Given the description of an element on the screen output the (x, y) to click on. 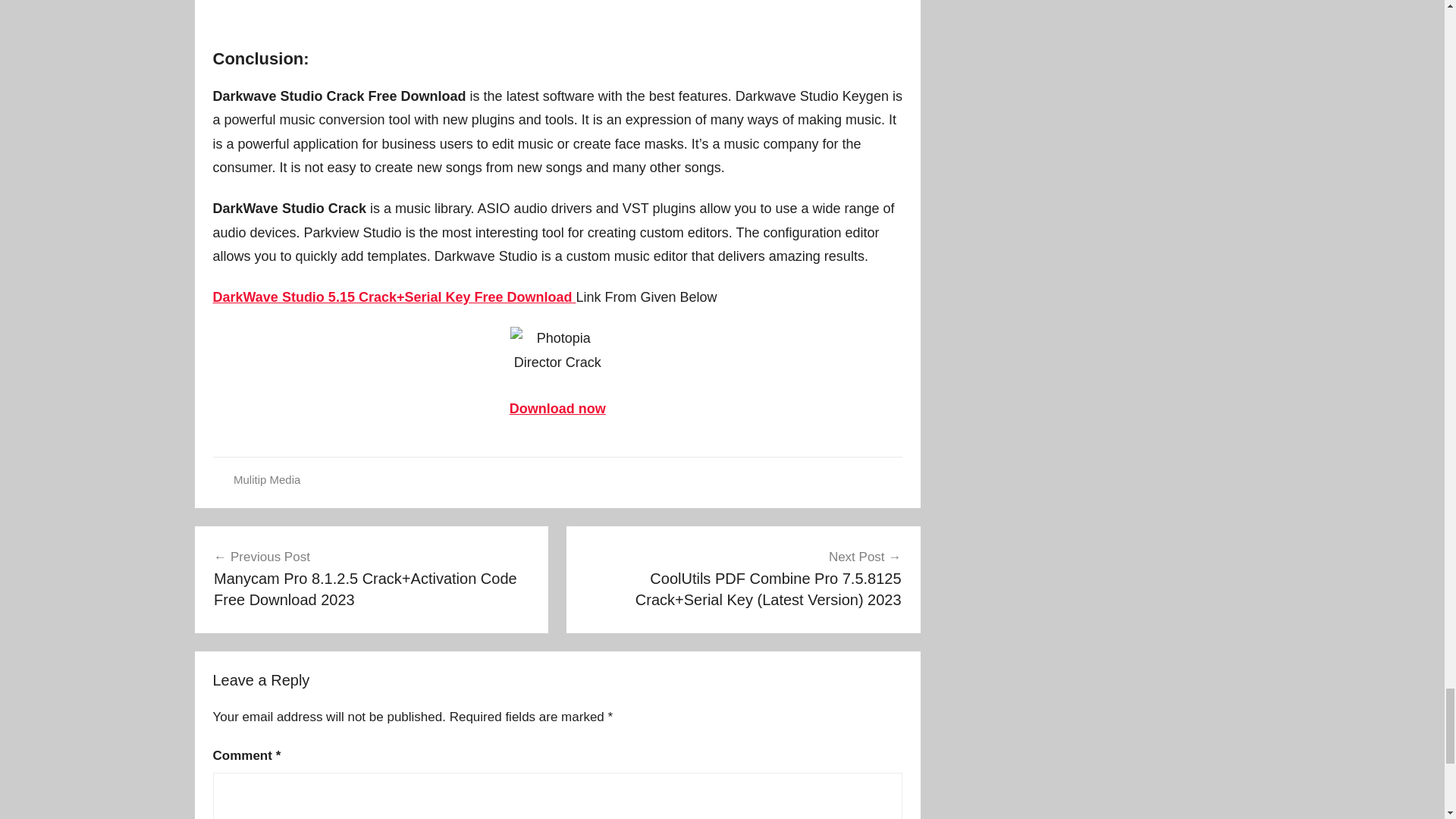
Download now (557, 408)
